Given the description of an element on the screen output the (x, y) to click on. 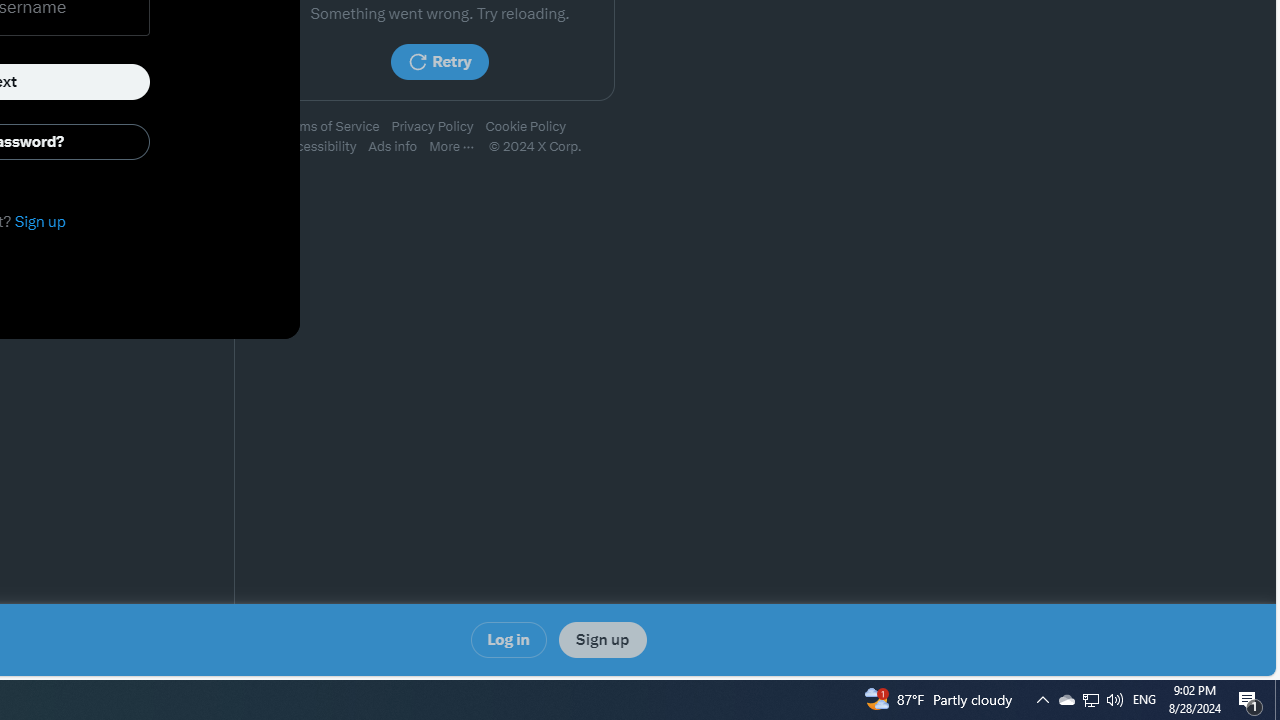
Sign up (602, 640)
Log in (507, 640)
